Given the description of an element on the screen output the (x, y) to click on. 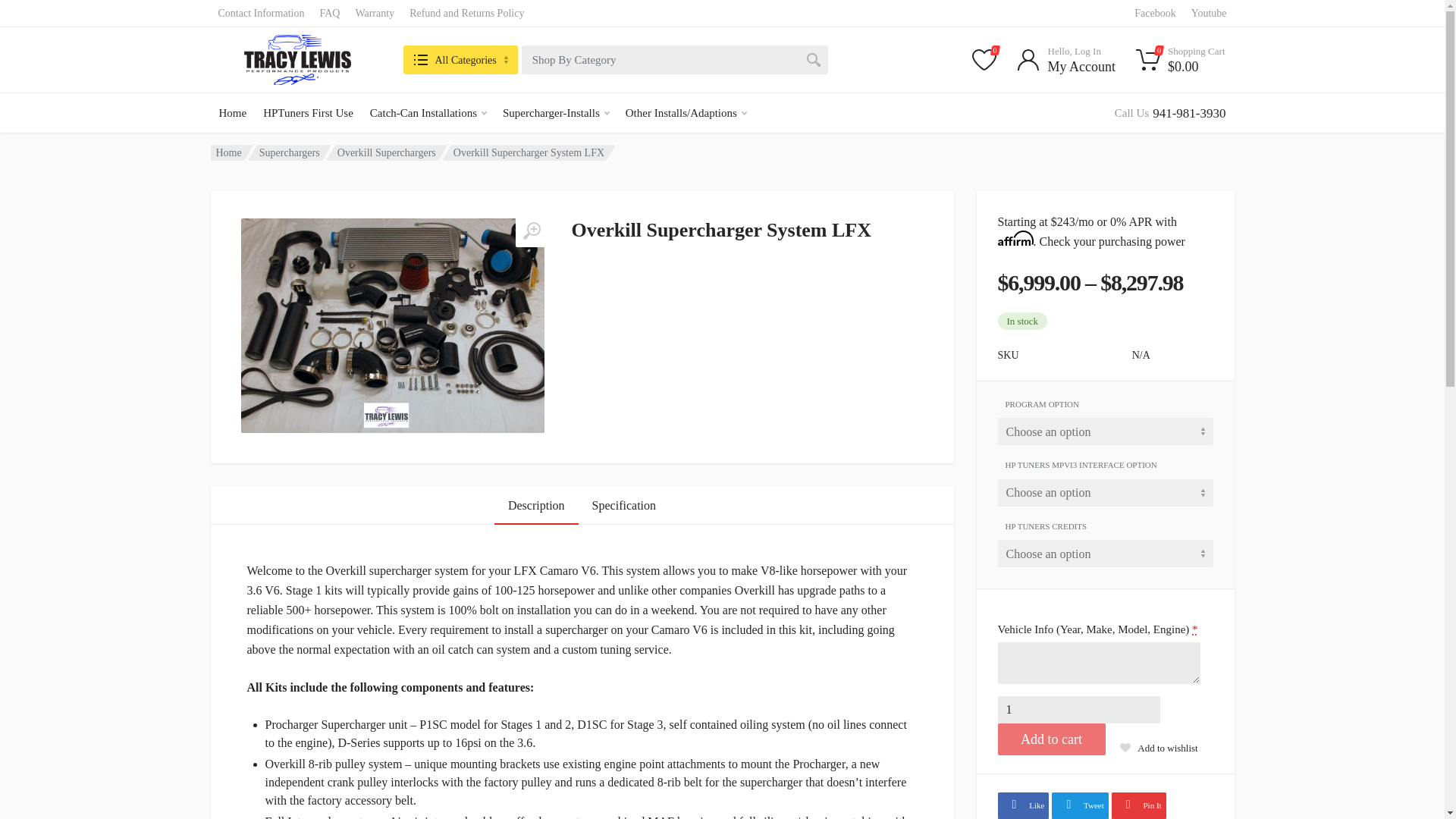
Youtube (1208, 13)
Affirm (721, 775)
Contact Information (262, 13)
Refund and Returns Policy (466, 13)
OVERKILL-Supercharger-System-LLT (392, 325)
Warranty (374, 13)
HPTuners First Use (1170, 112)
Facebook (307, 112)
Supercharger-Installs (1154, 13)
Home (556, 112)
FAQ (233, 112)
1 (329, 13)
All Categories (1078, 709)
Catch-Can Installations (460, 59)
